Given the description of an element on the screen output the (x, y) to click on. 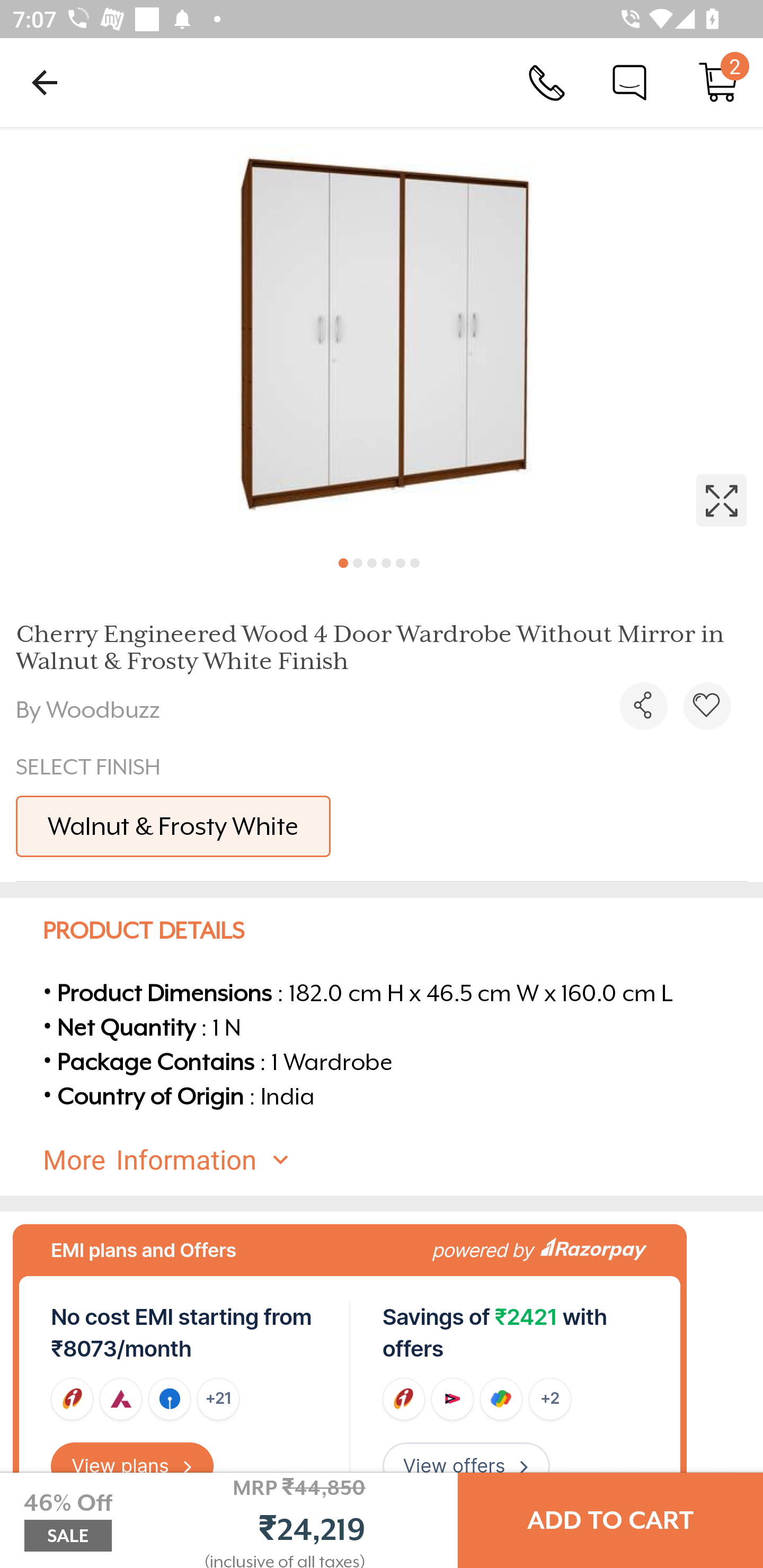
Navigate up (44, 82)
Call Us (546, 81)
Chat (629, 81)
Cart (718, 81)
 (381, 334)
 (643, 706)
 (706, 706)
Walnut & Frosty White (173, 825)
More Information  (396, 1160)
View plans (132, 1466)
View offers (465, 1466)
ADD TO CART (610, 1520)
